Given the description of an element on the screen output the (x, y) to click on. 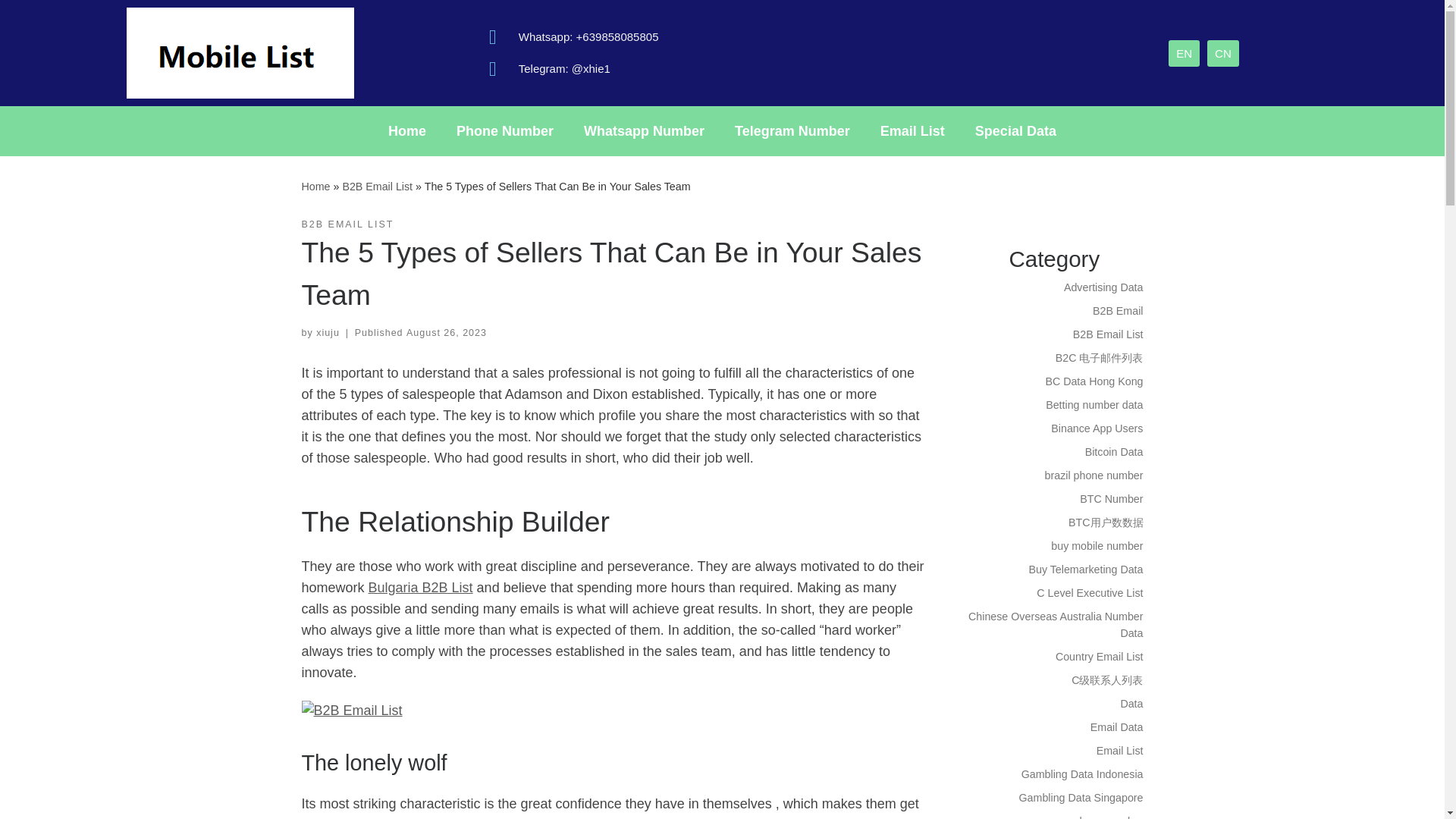
B2B Email List (377, 186)
Whatsapp Number (644, 130)
B2B EMAIL LIST (347, 224)
B2B Email List (377, 186)
Home (315, 186)
Email List (911, 130)
CN (1223, 52)
EN (1184, 52)
Bulgaria B2B List (420, 587)
10:18 am (446, 332)
Phone Number (505, 130)
Telegram Number (791, 130)
August 26, 2023 (446, 332)
View all posts by xiuju (327, 332)
View all posts in B2B Email List (347, 224)
